Given the description of an element on the screen output the (x, y) to click on. 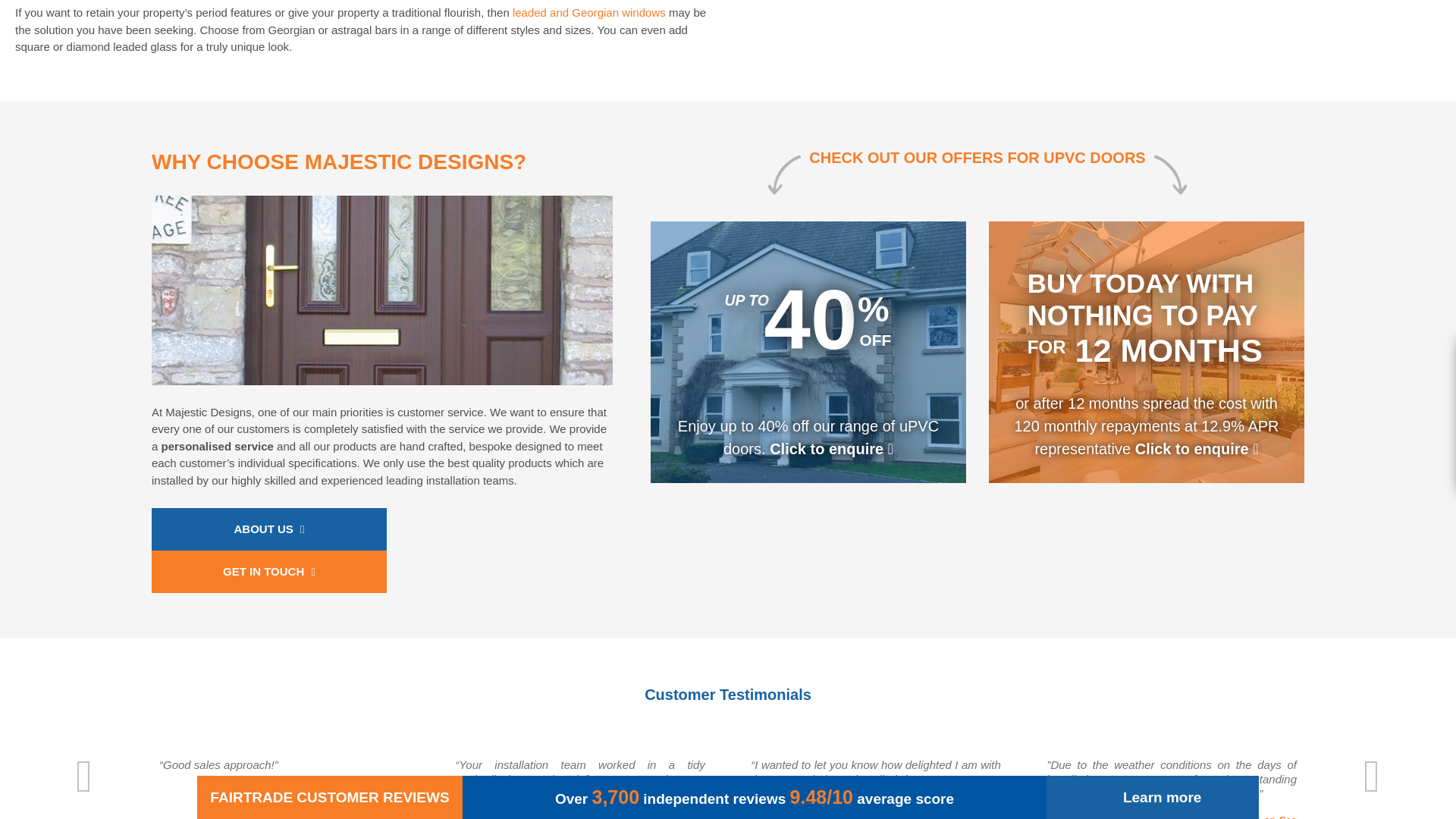
About us (269, 528)
Get in touch (269, 571)
